Given the description of an element on the screen output the (x, y) to click on. 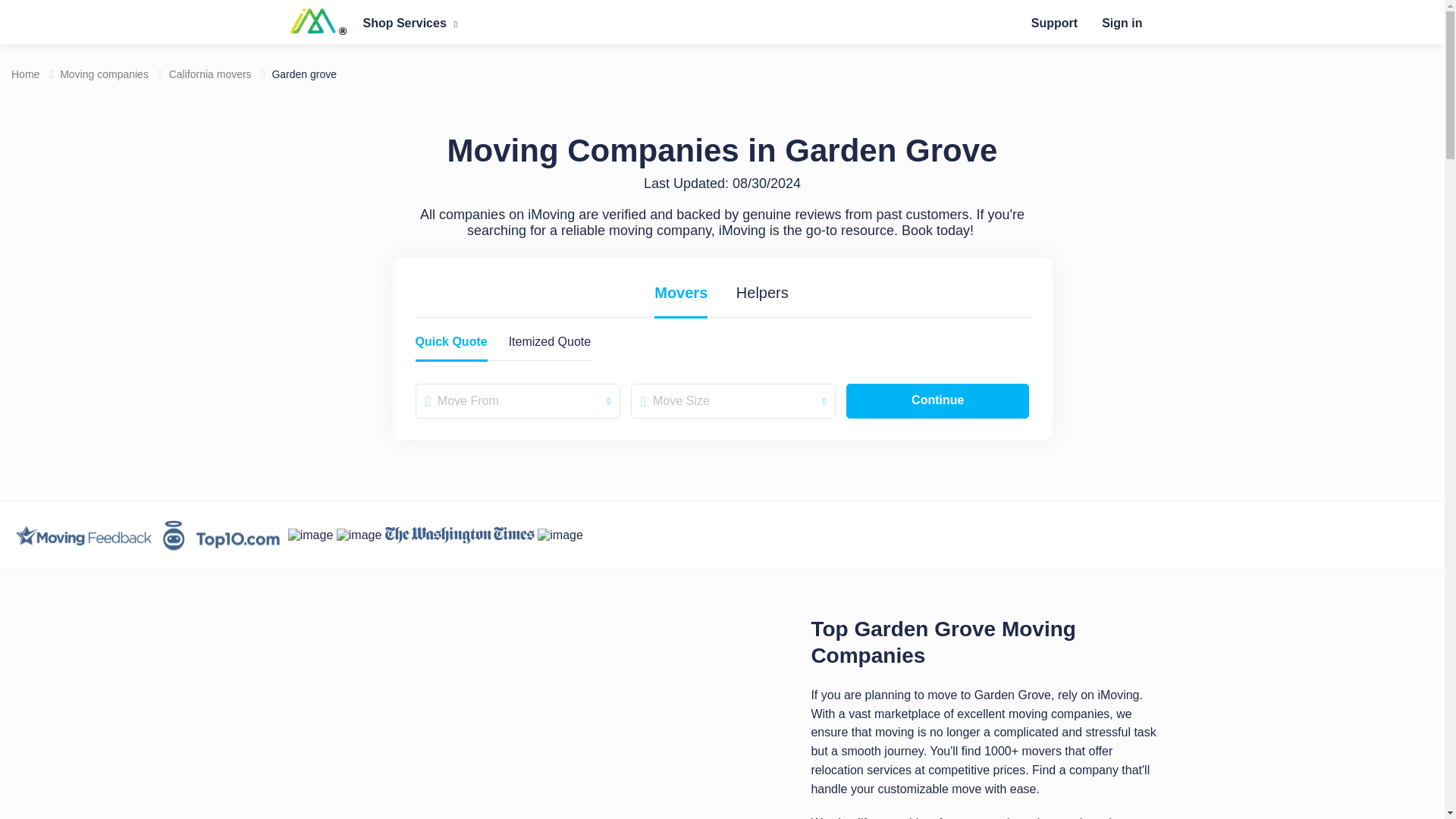
Itemized Quote (549, 343)
Home (25, 73)
Movers (681, 292)
Shop Services (409, 23)
Helpers (762, 292)
Support (1054, 23)
Move From (517, 401)
Sign in (1121, 23)
Continue (937, 401)
Quick Quote (450, 343)
